Given the description of an element on the screen output the (x, y) to click on. 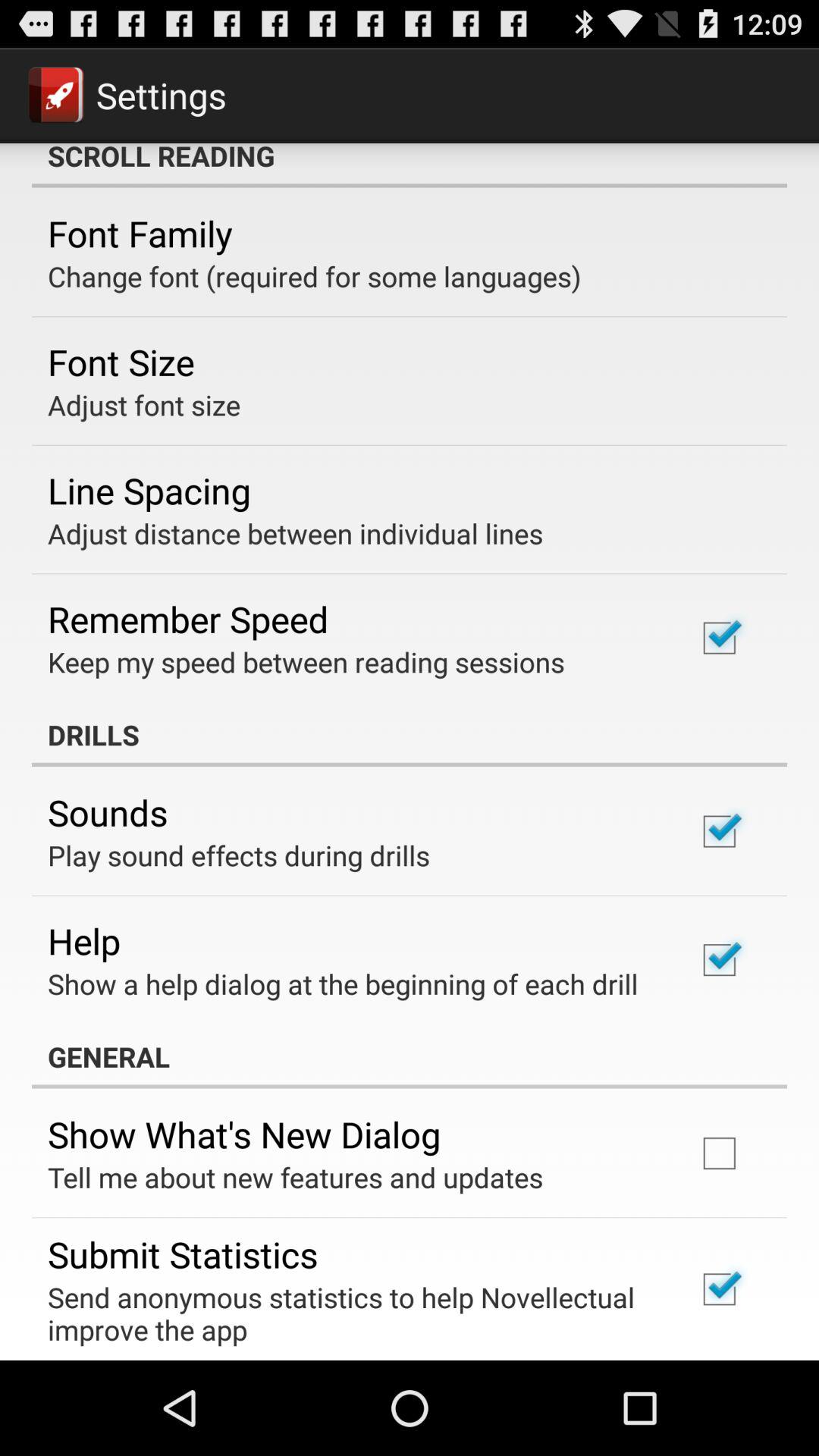
flip to the line spacing (148, 490)
